Given the description of an element on the screen output the (x, y) to click on. 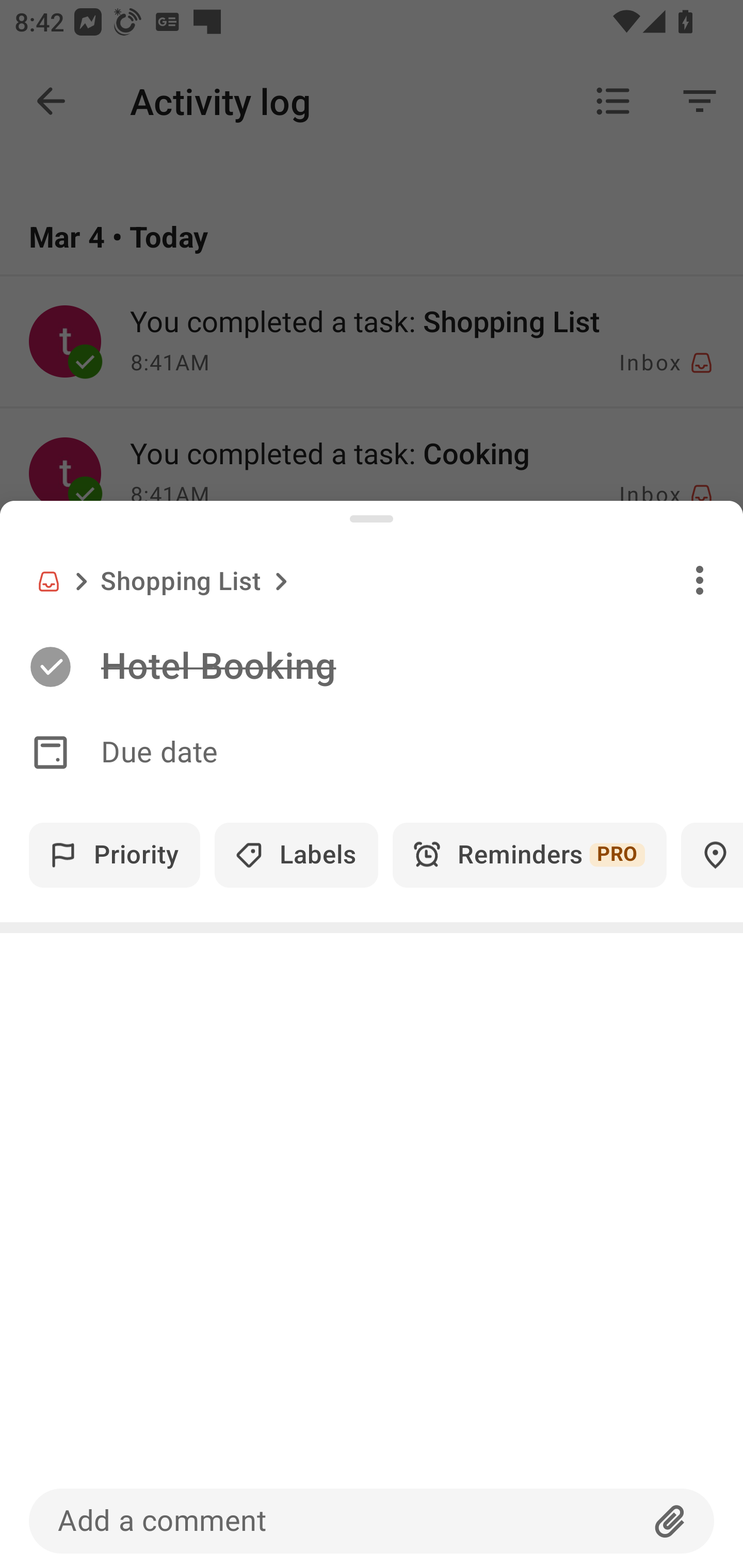
Overflow menu (699, 580)
Complete (50, 667)
Hotel Booking​ (422, 666)
Date Due date (371, 752)
Priority (113, 855)
Labels (296, 855)
Reminders PRO (529, 855)
Locations PRO (712, 855)
Add a comment Attachment (371, 1520)
Attachment (670, 1520)
